Given the description of an element on the screen output the (x, y) to click on. 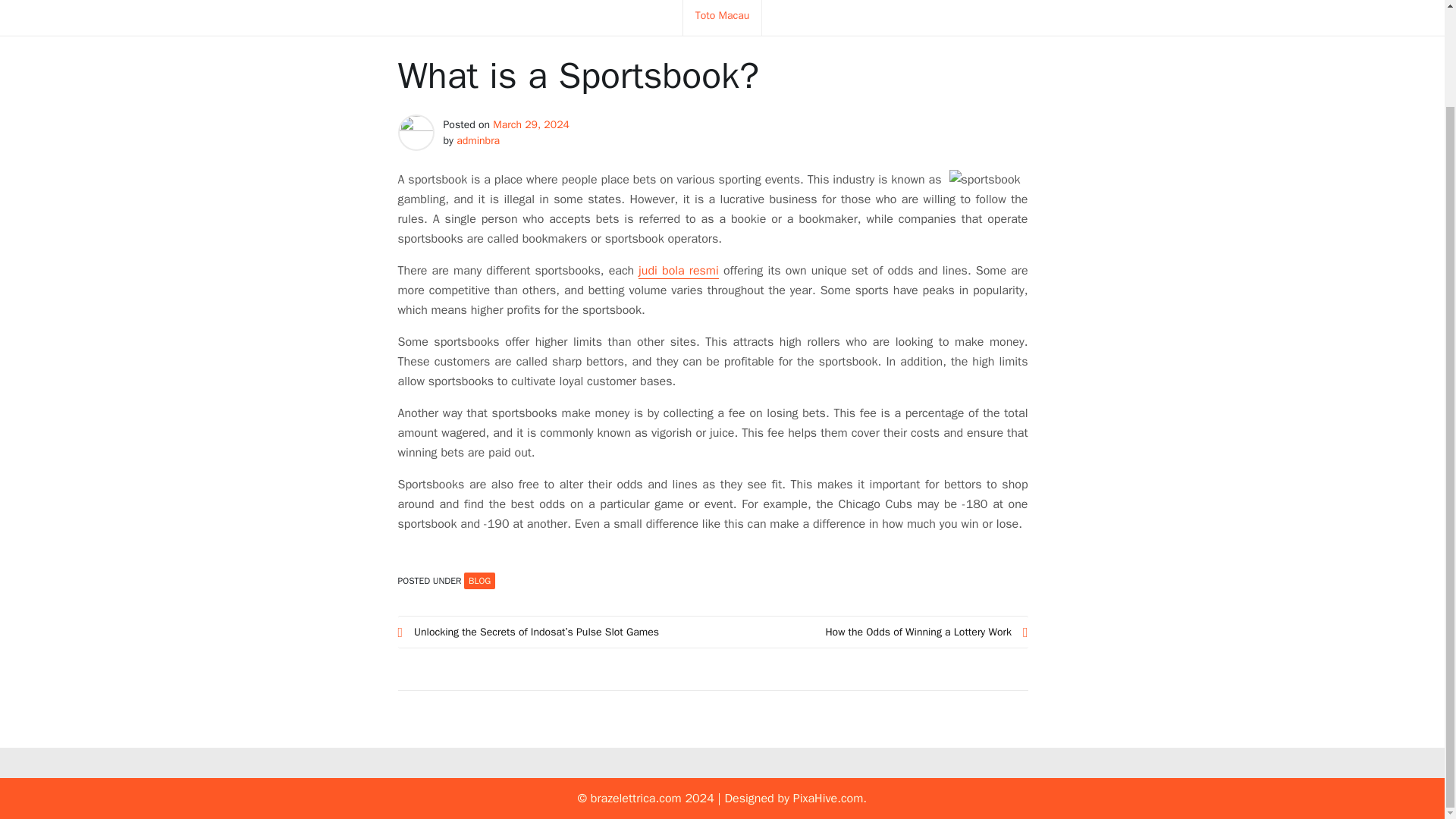
Toto Macau (722, 18)
BLOG (479, 580)
judi bola resmi (679, 270)
PixaHive.com (828, 798)
March 29, 2024 (531, 124)
adminbra (478, 140)
How the Odds of Winning a Lottery Work (870, 631)
